Given the description of an element on the screen output the (x, y) to click on. 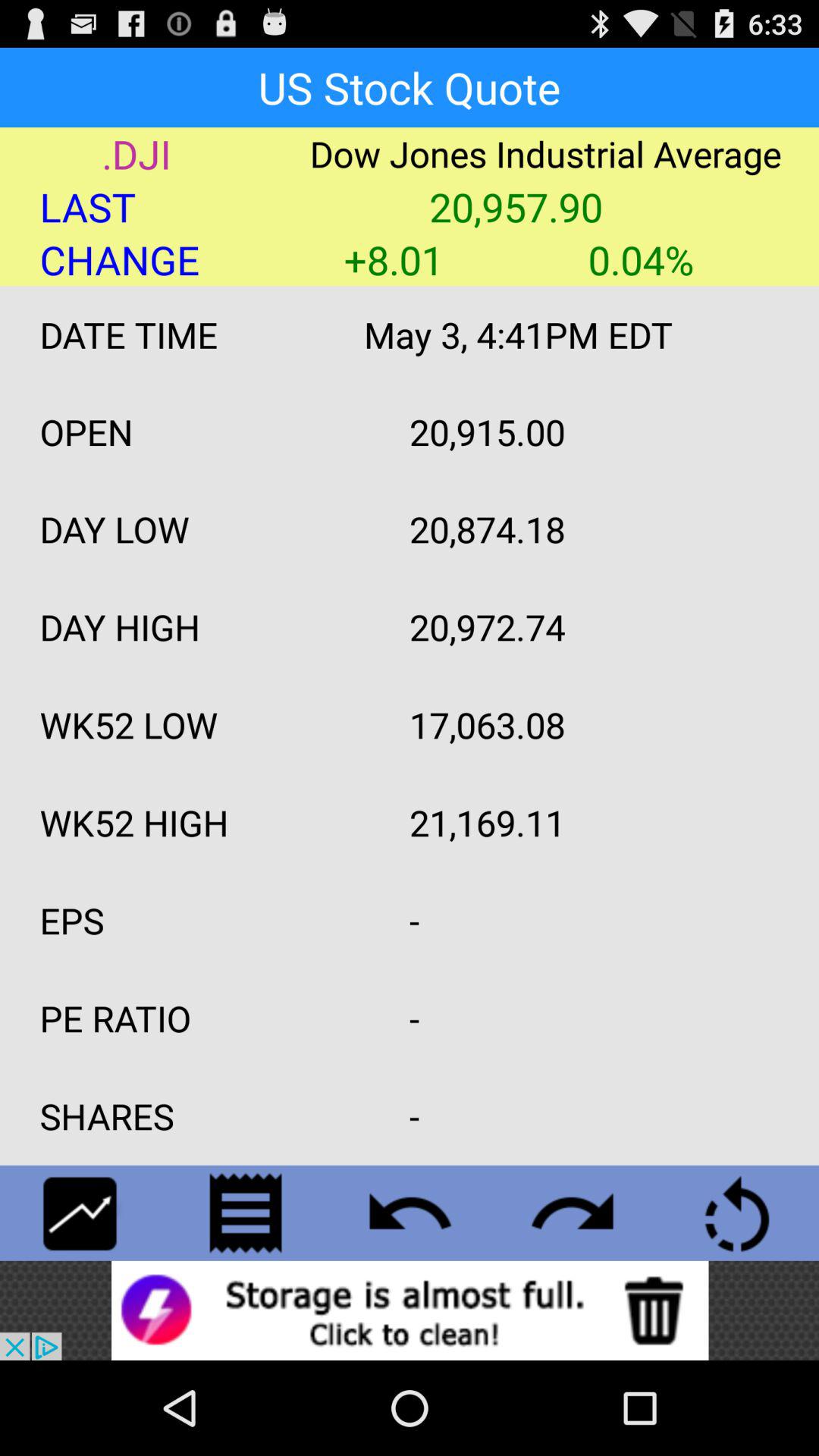
open advertisement (409, 1310)
